Given the description of an element on the screen output the (x, y) to click on. 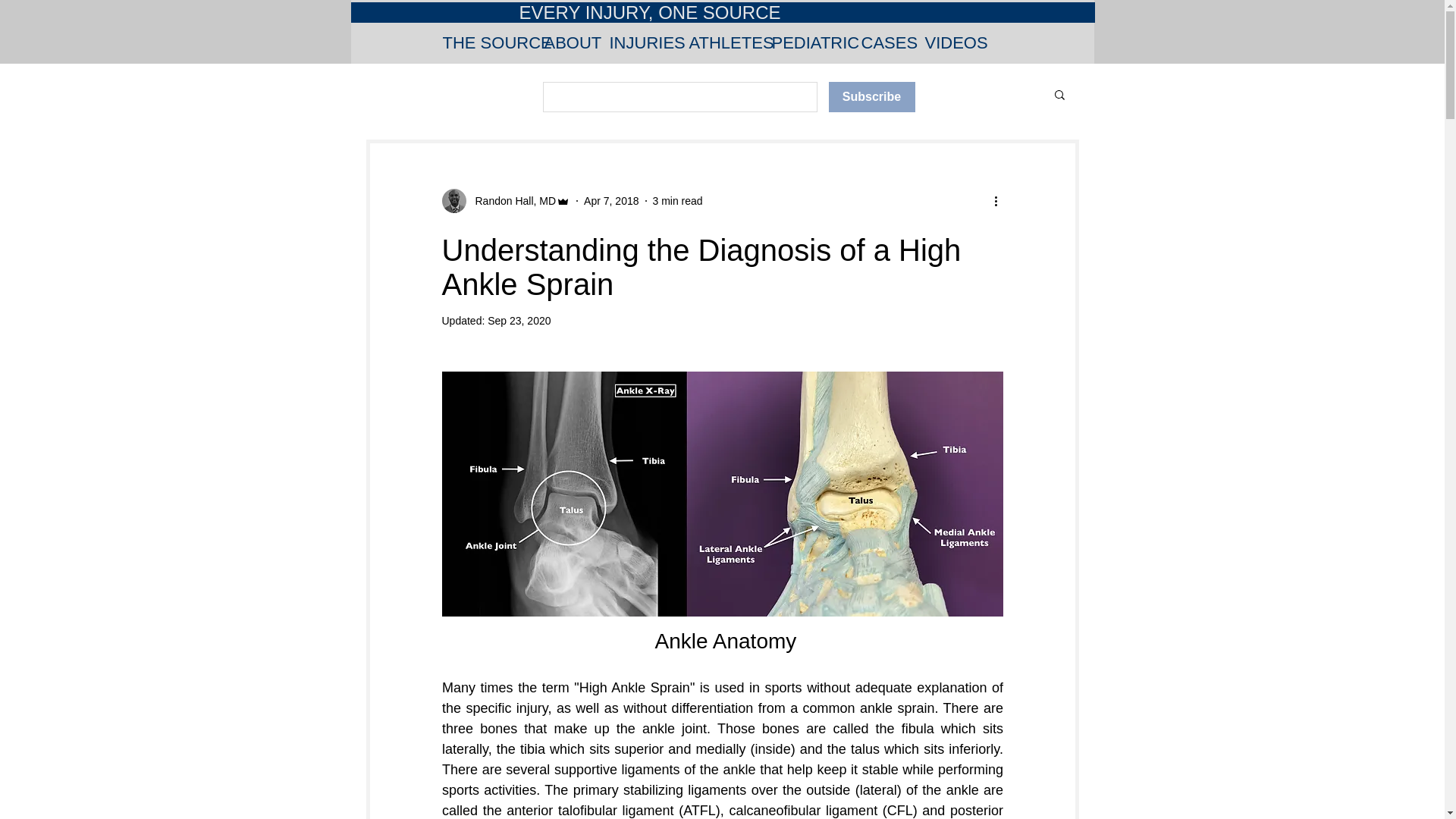
THE SOURCE (481, 42)
Randon Hall, MD (510, 200)
PEDIATRIC (804, 42)
Apr 7, 2018 (611, 200)
INJURIES (636, 42)
CASES (880, 42)
ABOUT (564, 42)
VIDEOS (946, 42)
ATHLETES (719, 42)
Sep 23, 2020 (518, 320)
